Given the description of an element on the screen output the (x, y) to click on. 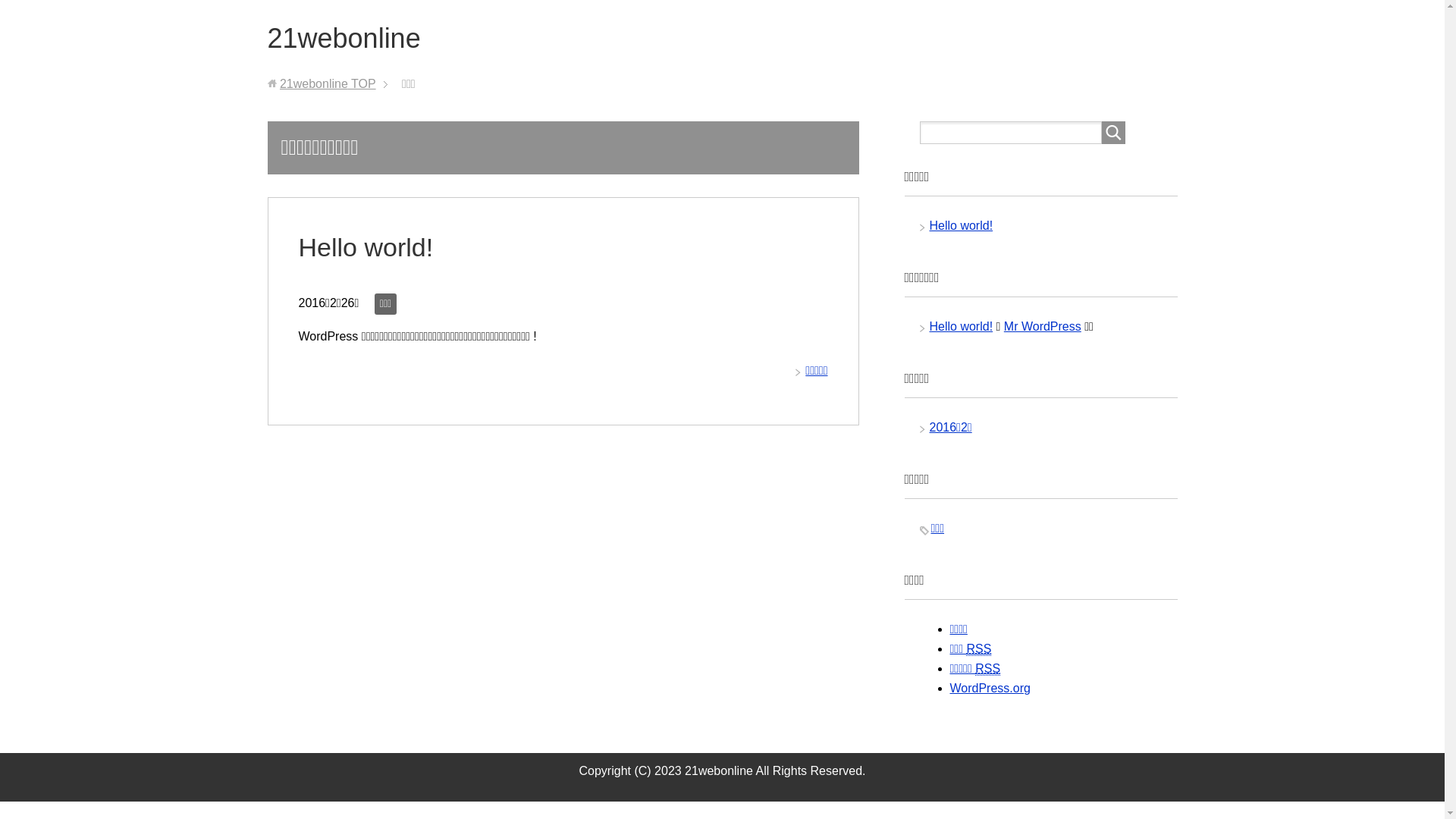
Hello world! Element type: text (961, 326)
Mr WordPress Element type: text (1042, 326)
21webonline TOP Element type: text (327, 83)
WordPress.org Element type: text (989, 687)
Hello world! Element type: text (365, 246)
Hello world! Element type: text (961, 225)
21webonline Element type: text (343, 37)
